Given the description of an element on the screen output the (x, y) to click on. 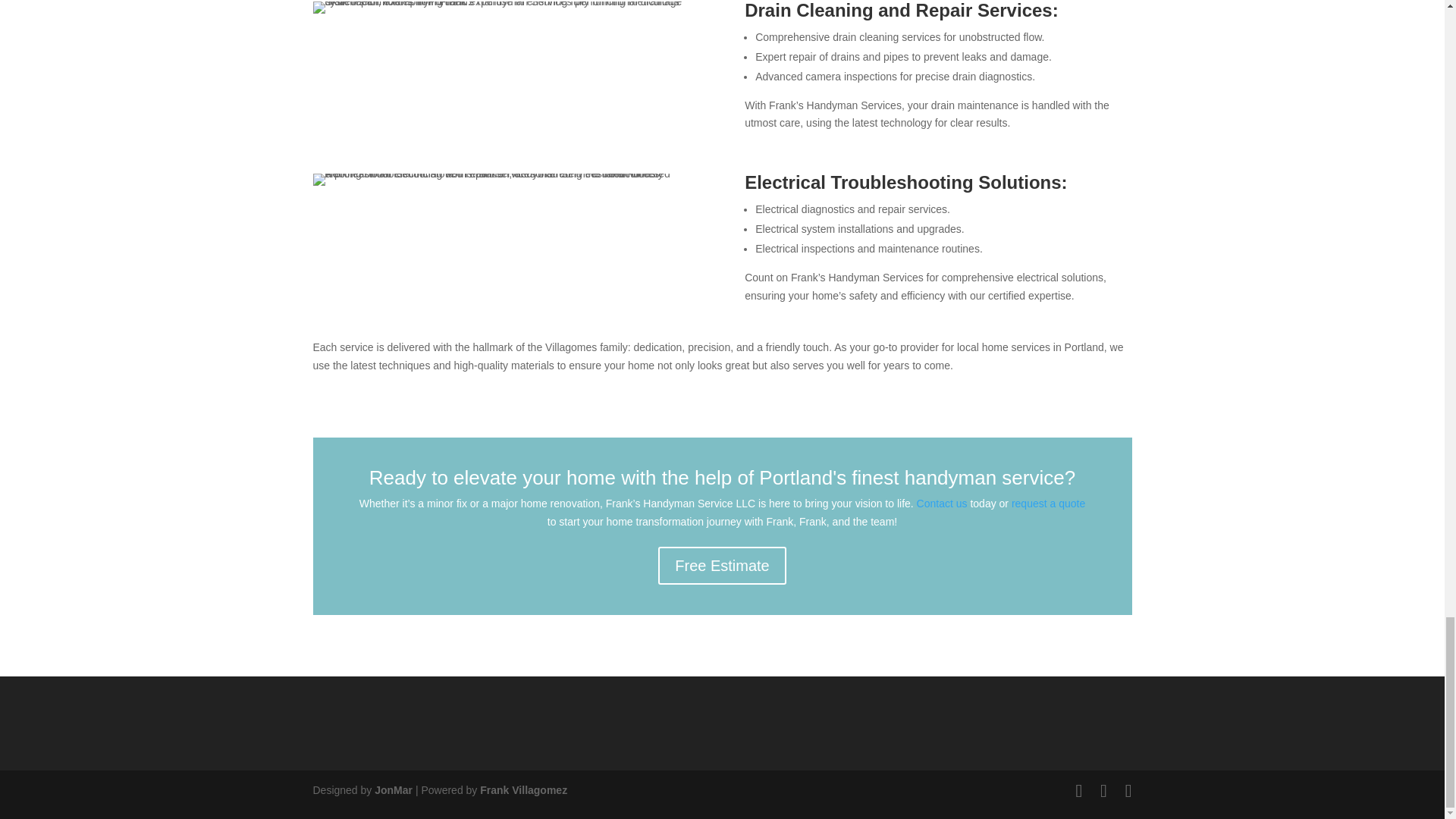
request a quote (1047, 503)
electrical-repair-service (505, 179)
Frank Villagomez (523, 789)
drain-repair-technicians-at-work (505, 7)
JonMar (393, 789)
Contact us (942, 503)
Free Estimate (722, 565)
